Given the description of an element on the screen output the (x, y) to click on. 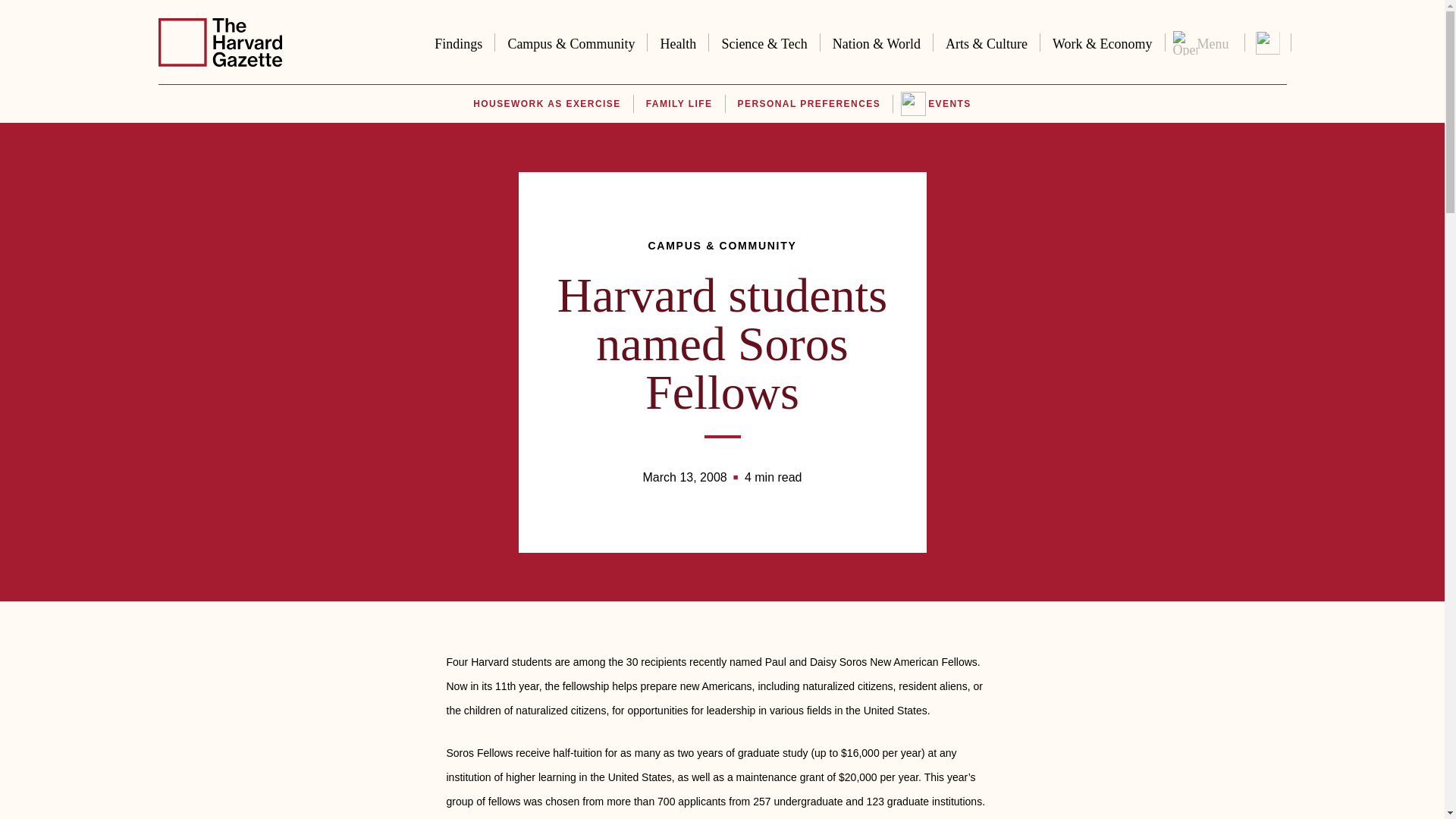
Menu (1204, 42)
HOUSEWORK AS EXERCISE (546, 103)
Findings (457, 41)
PERSONAL PREFERENCES (809, 103)
Health (677, 41)
FAMILY LIFE (679, 103)
